Given the description of an element on the screen output the (x, y) to click on. 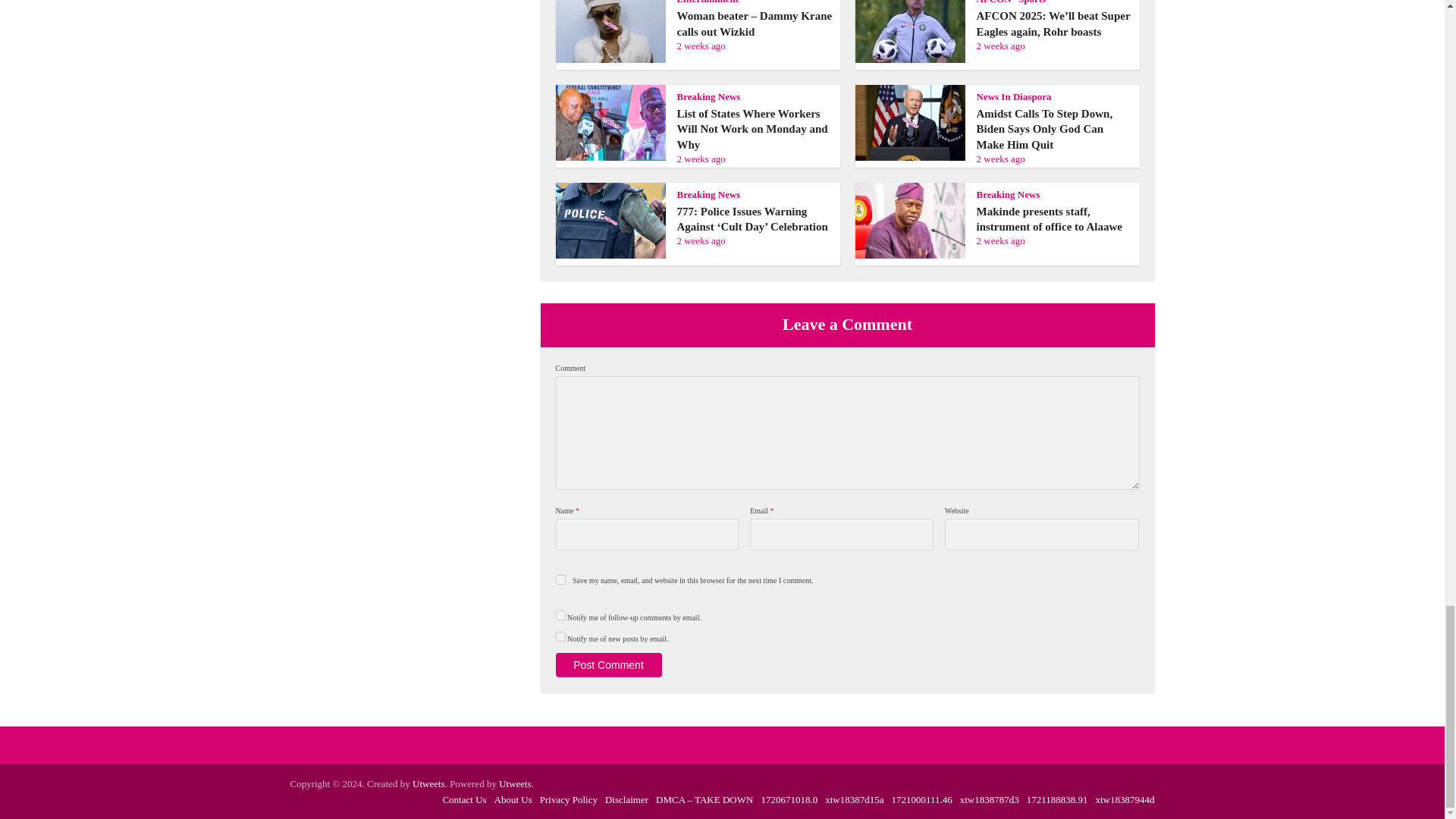
yes (559, 579)
subscribe (559, 636)
Post Comment (607, 664)
subscribe (559, 614)
